Given the description of an element on the screen output the (x, y) to click on. 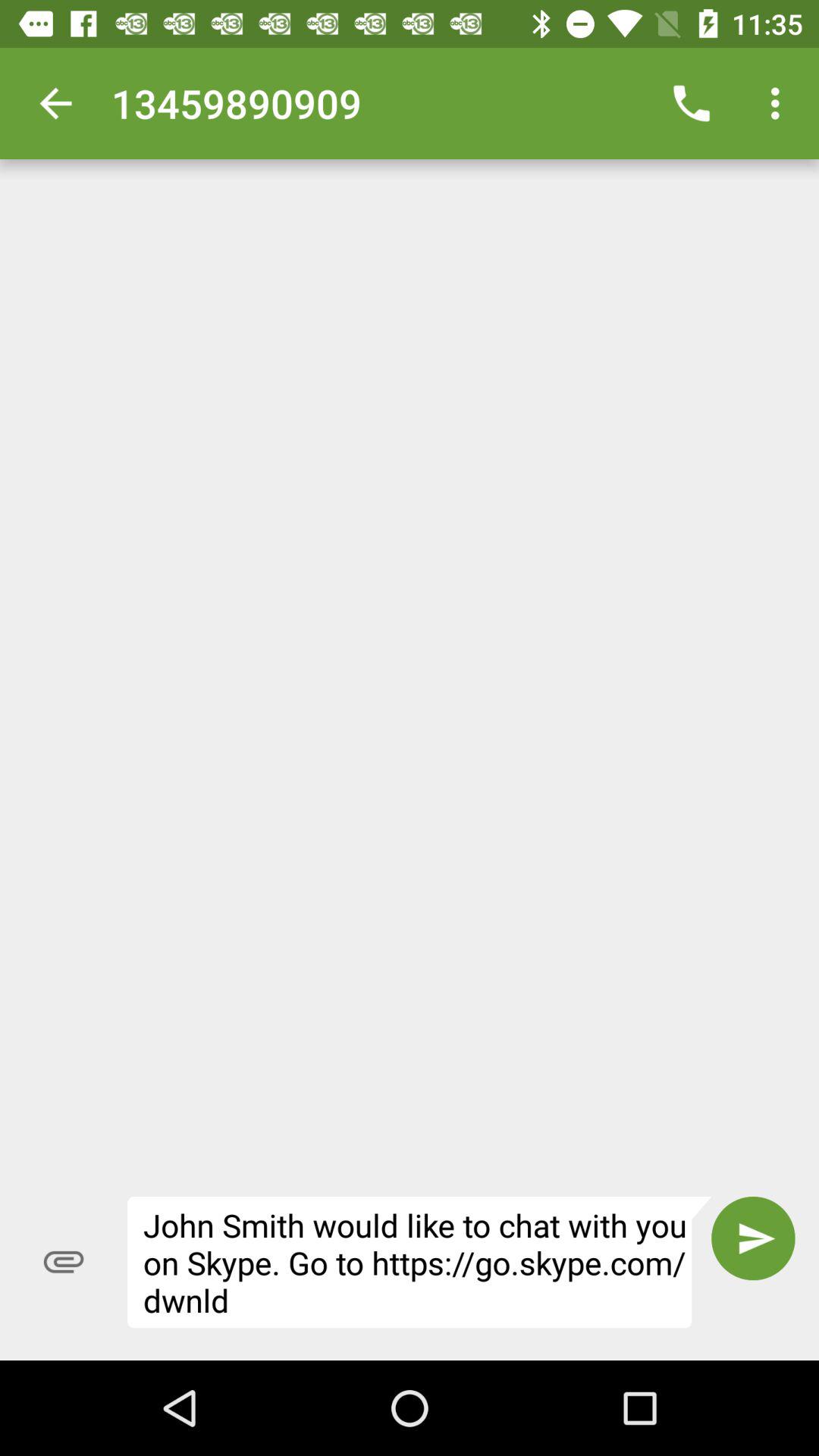
launch the icon to the left of 13459890909 item (55, 103)
